Given the description of an element on the screen output the (x, y) to click on. 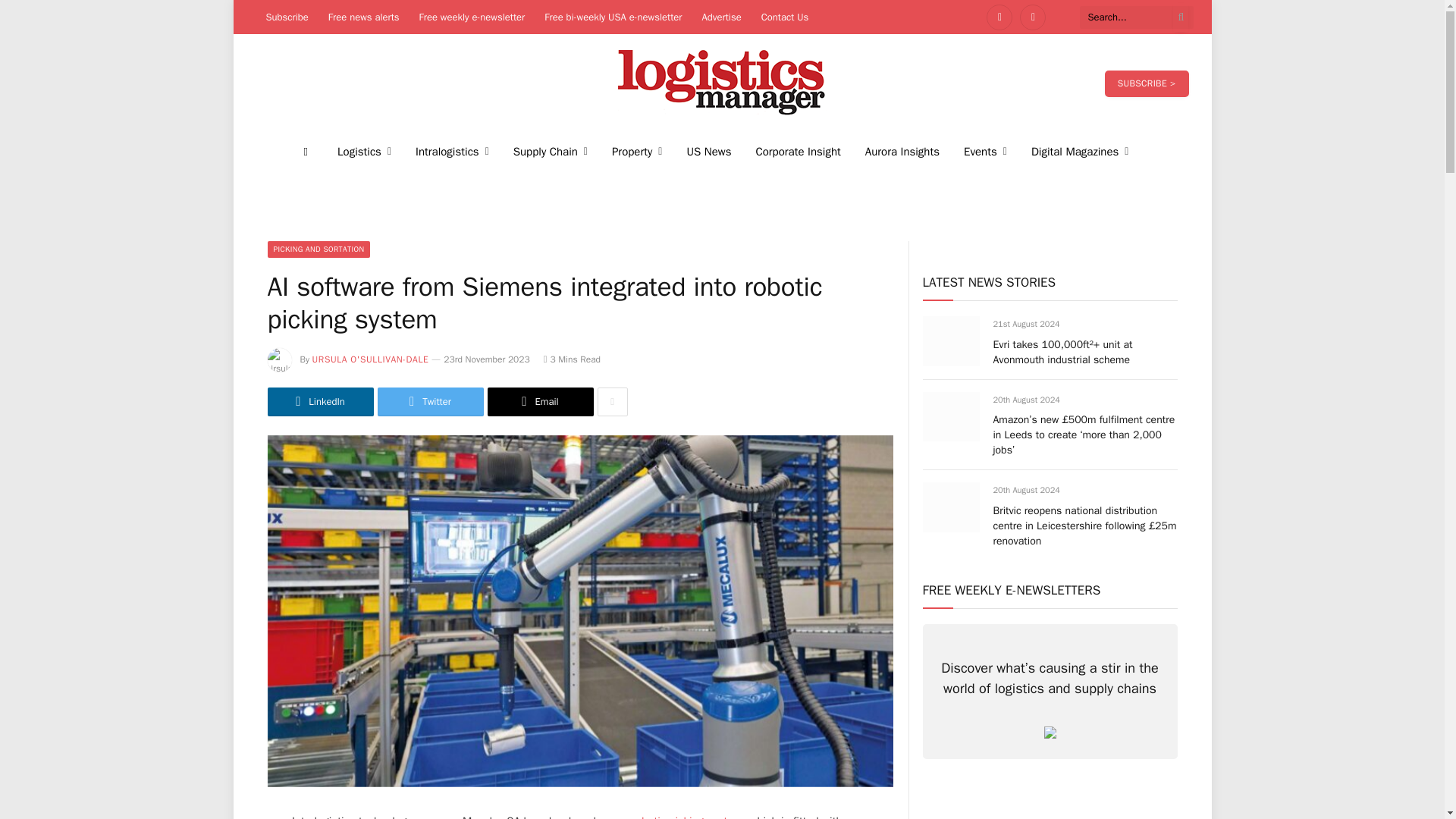
Logistics Manager (722, 83)
Share via Email (539, 401)
Posts by Ursula O'Sullivan-Dale (371, 358)
Share on LinkedIn (319, 401)
Show More Social Sharing (611, 401)
